Given the description of an element on the screen output the (x, y) to click on. 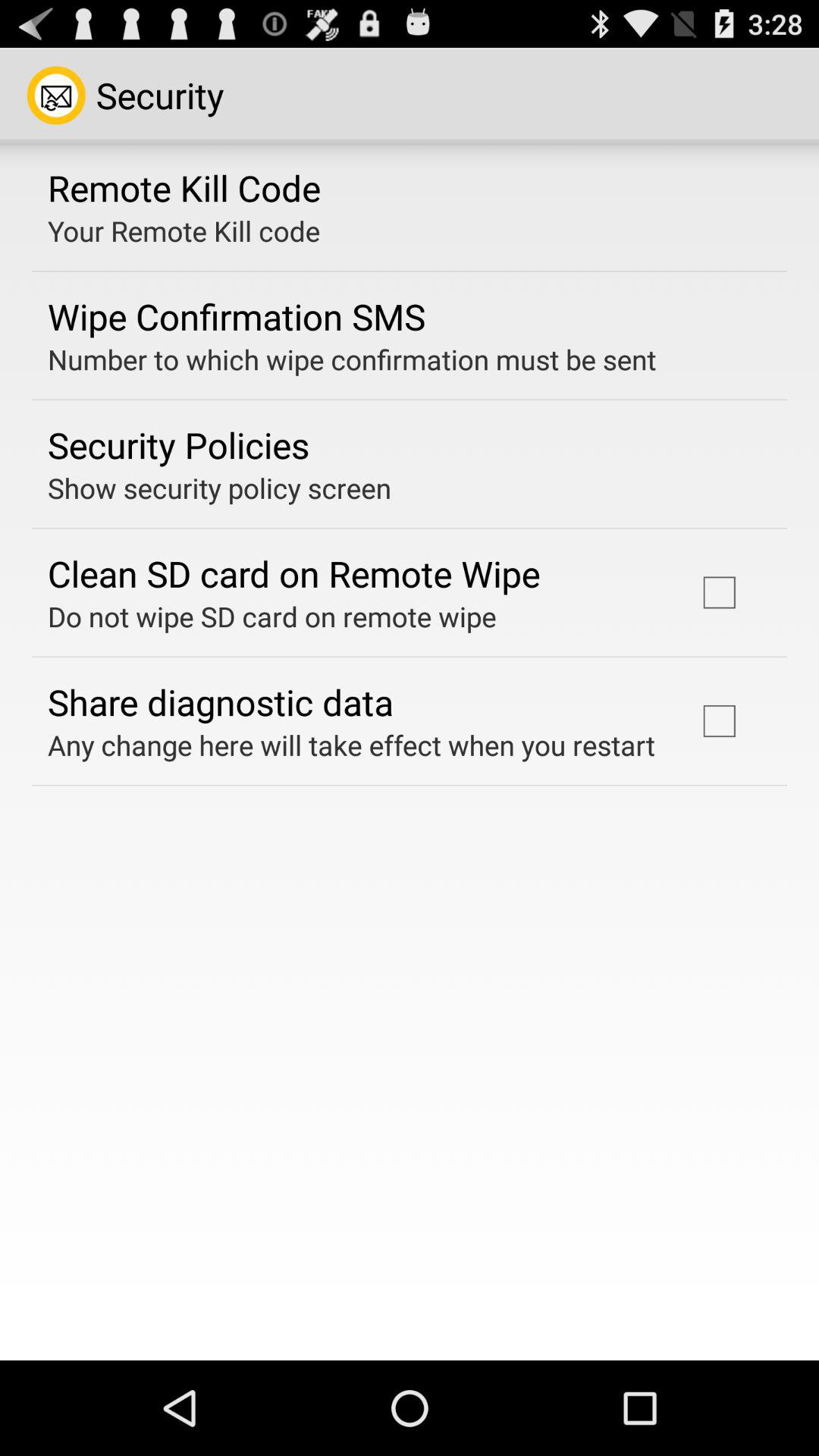
select any change here (351, 744)
